Given the description of an element on the screen output the (x, y) to click on. 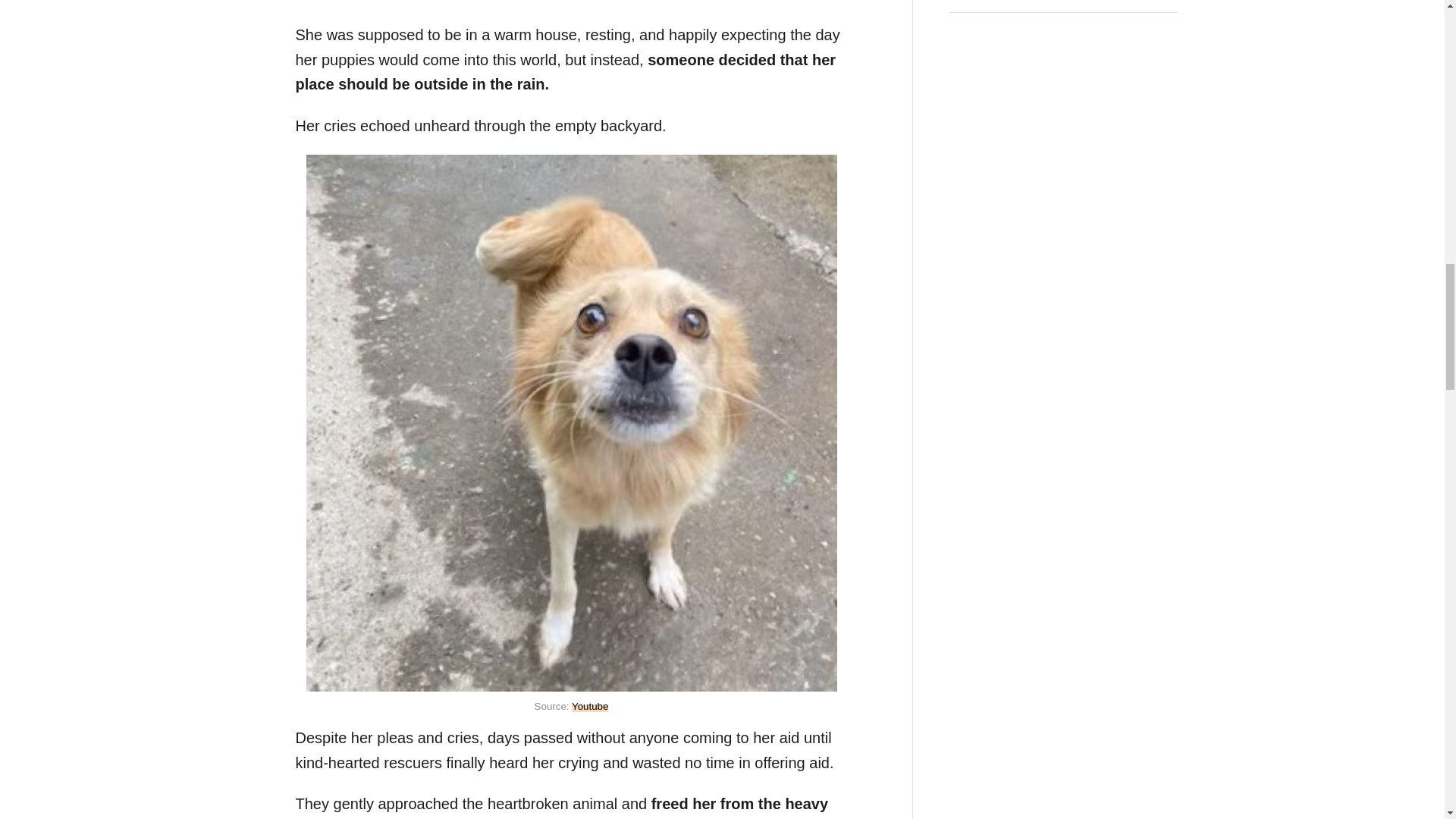
Youtube (590, 706)
